Given the description of an element on the screen output the (x, y) to click on. 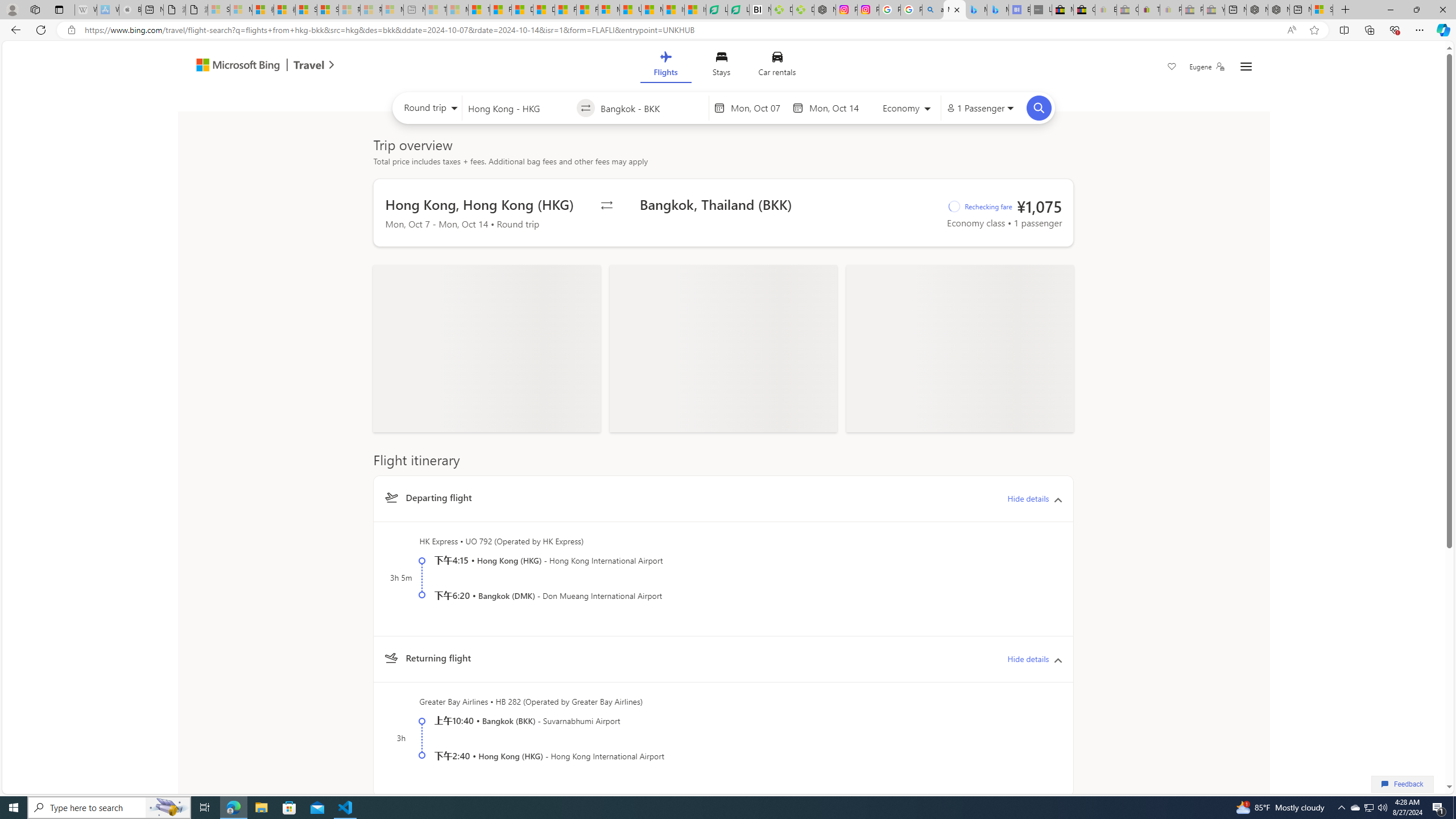
Sign in to your Microsoft account (1322, 9)
Going to? (651, 107)
Select trip type (428, 110)
alabama high school quarterback dies - Search (933, 9)
Microsoft Bing Travel (253, 65)
Hide details (1027, 658)
End date (836, 107)
